Given the description of an element on the screen output the (x, y) to click on. 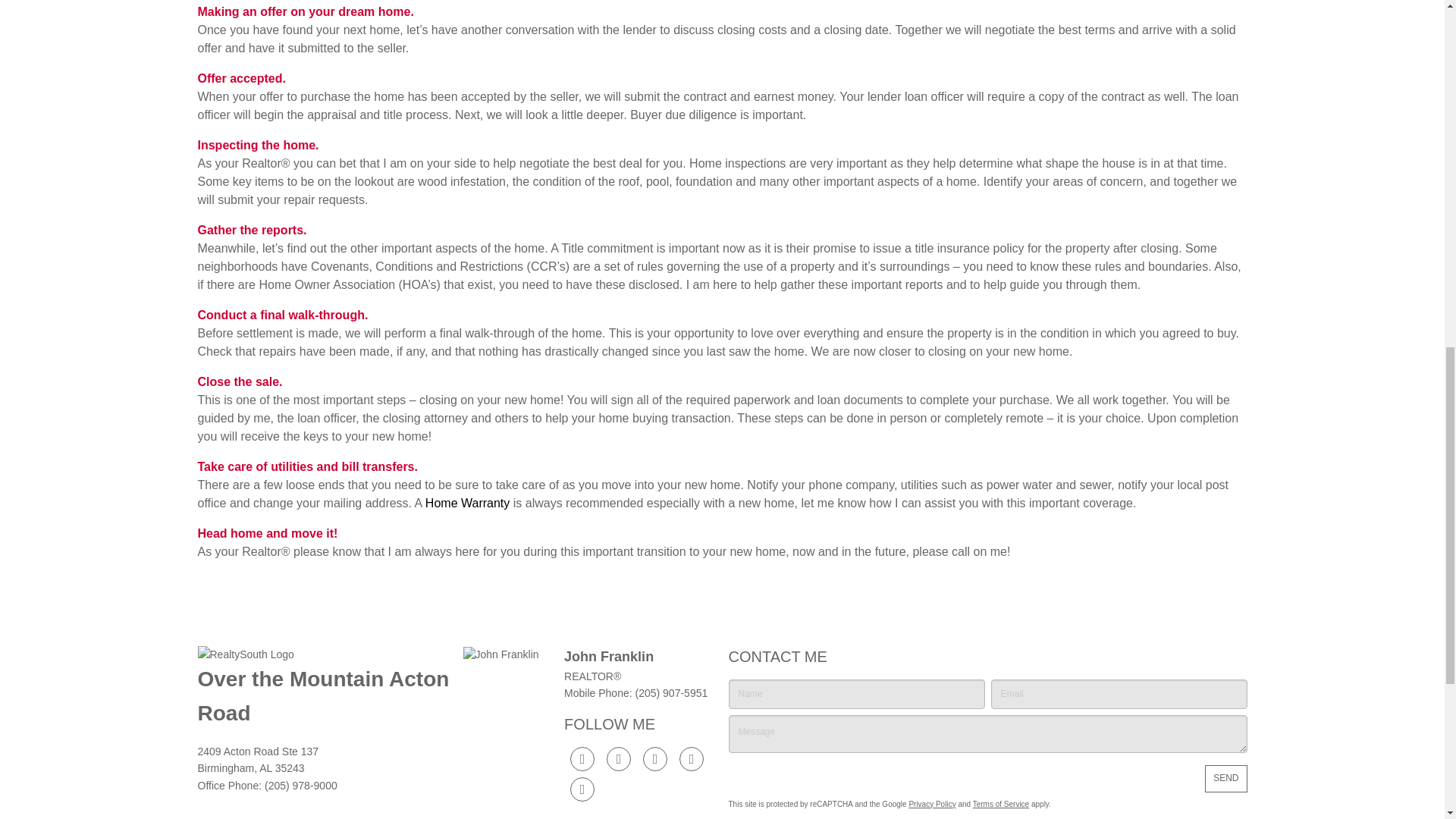
Click here to access our Facebook page (582, 758)
Terms of Service (1000, 804)
Send (1225, 778)
Send (1225, 778)
Click here to access our Twitter account (618, 758)
Click here to access our youtube (691, 758)
Home Warranty (467, 502)
RealtySouth Logo (322, 654)
Click here to access our pinterest (582, 789)
Over the Mountain Acton Road (322, 695)
